Given the description of an element on the screen output the (x, y) to click on. 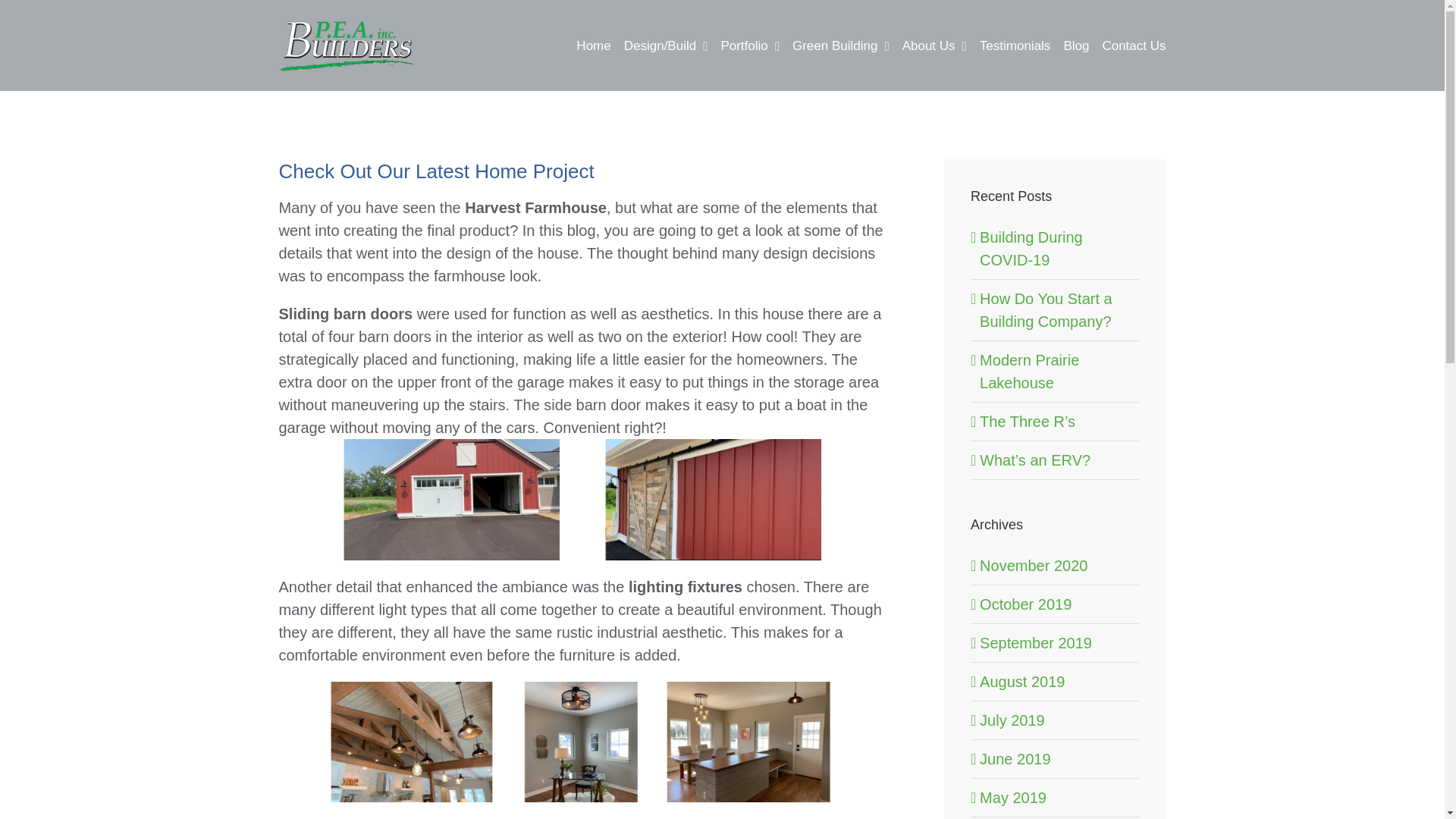
Modern Prairie Lakehouse (1028, 371)
June 2019 (1014, 759)
October 2019 (1025, 604)
August 2019 (1021, 681)
September 2019 (1035, 642)
May 2019 (1012, 797)
July 2019 (1012, 719)
Building During COVID-19 (1031, 248)
Green Building (840, 45)
November 2020 (1033, 565)
